Given the description of an element on the screen output the (x, y) to click on. 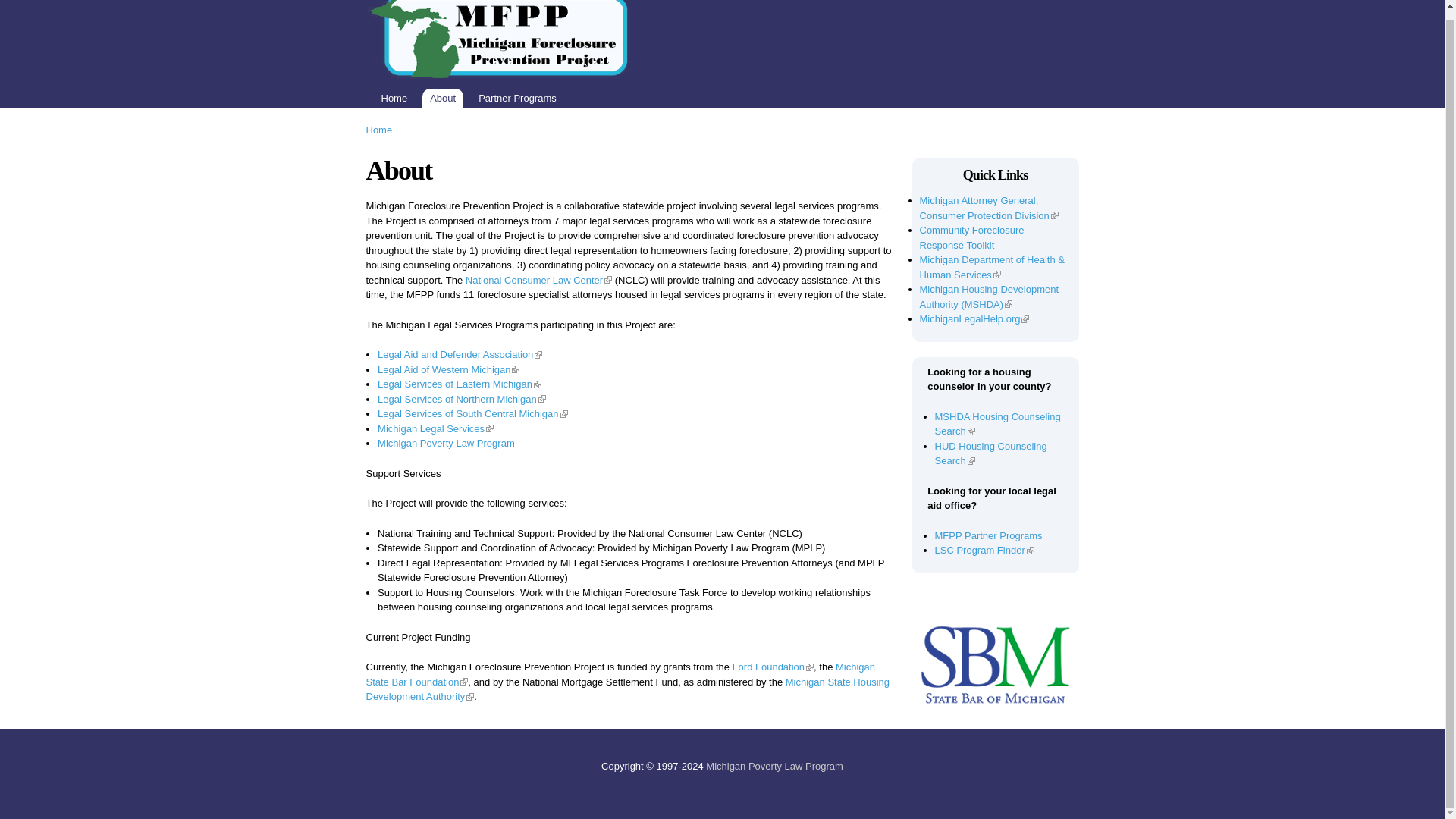
Community Foreclosure Response Toolkit (970, 237)
Partner Programs (517, 97)
MFPP Partner Programs (988, 534)
Michigan Poverty Law Program (446, 442)
State Bar of Michigan (994, 663)
Michigan Poverty Law Program (774, 766)
About (442, 97)
Home (393, 97)
Home (378, 129)
